Given the description of an element on the screen output the (x, y) to click on. 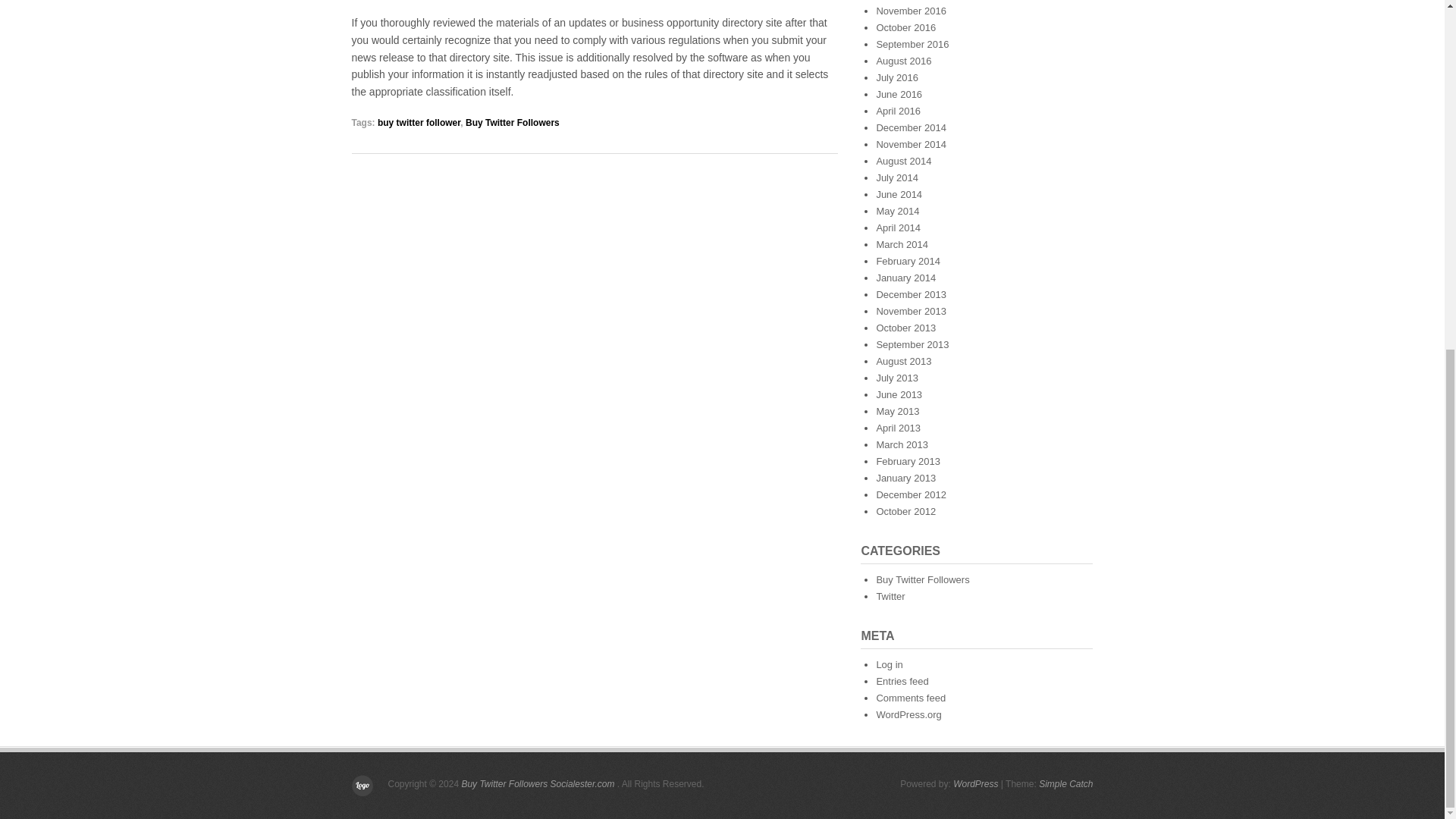
June 2016 (898, 93)
Simple Catch (1066, 783)
April 2014 (898, 227)
August 2016 (903, 60)
November 2014 (911, 143)
November 2016 (911, 10)
November 2013 (911, 310)
Buy Twitter Followers (512, 122)
July 2016 (897, 77)
September 2016 (912, 43)
